Given the description of an element on the screen output the (x, y) to click on. 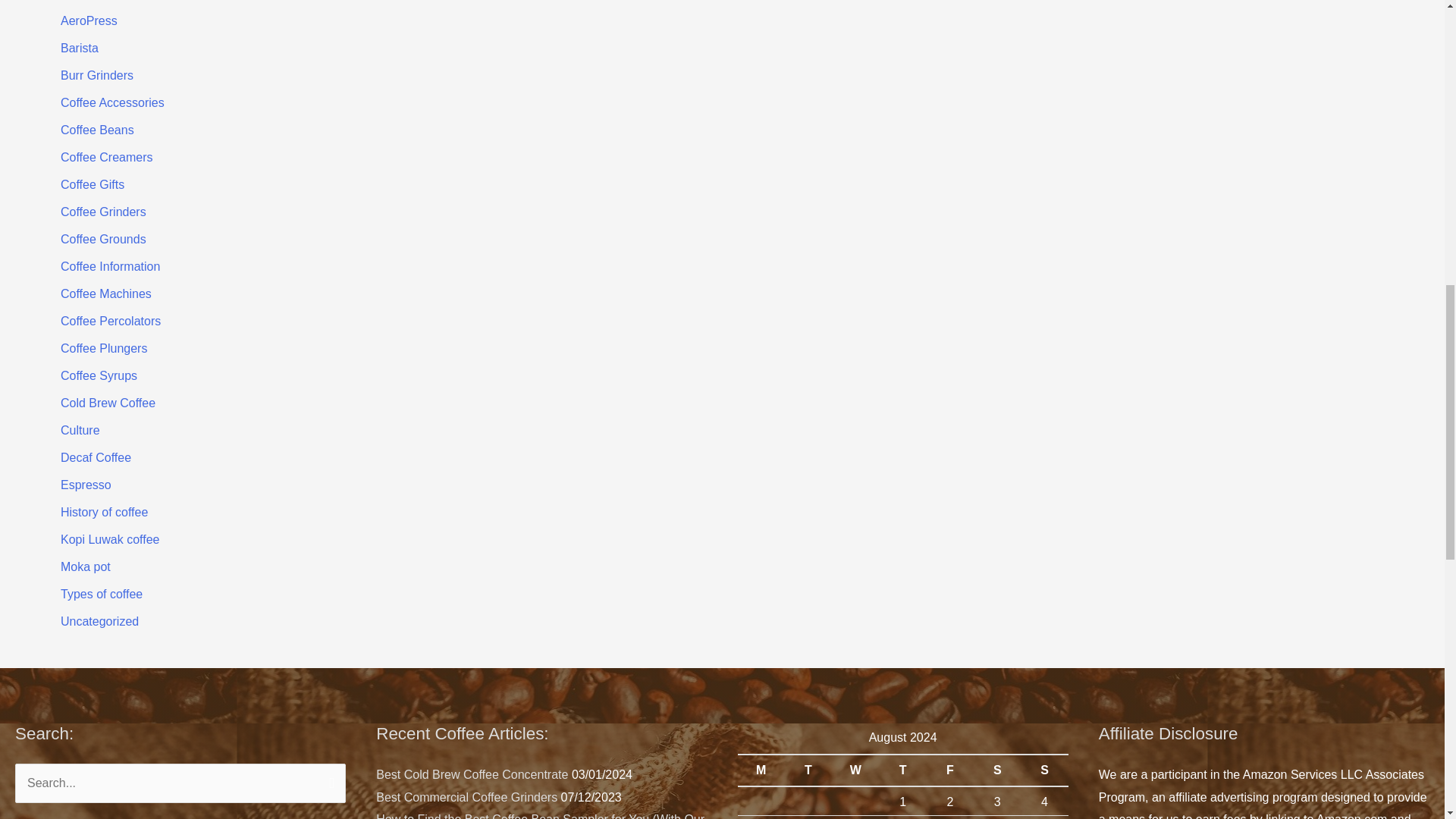
Thursday (902, 770)
Coffee Accessories (112, 102)
Coffee Creamers (106, 156)
Friday (950, 770)
Wednesday (855, 770)
Coffee Beans (97, 129)
Tuesday (807, 770)
Burr Grinders (97, 74)
Barista (80, 47)
AeroPress (89, 20)
